Given the description of an element on the screen output the (x, y) to click on. 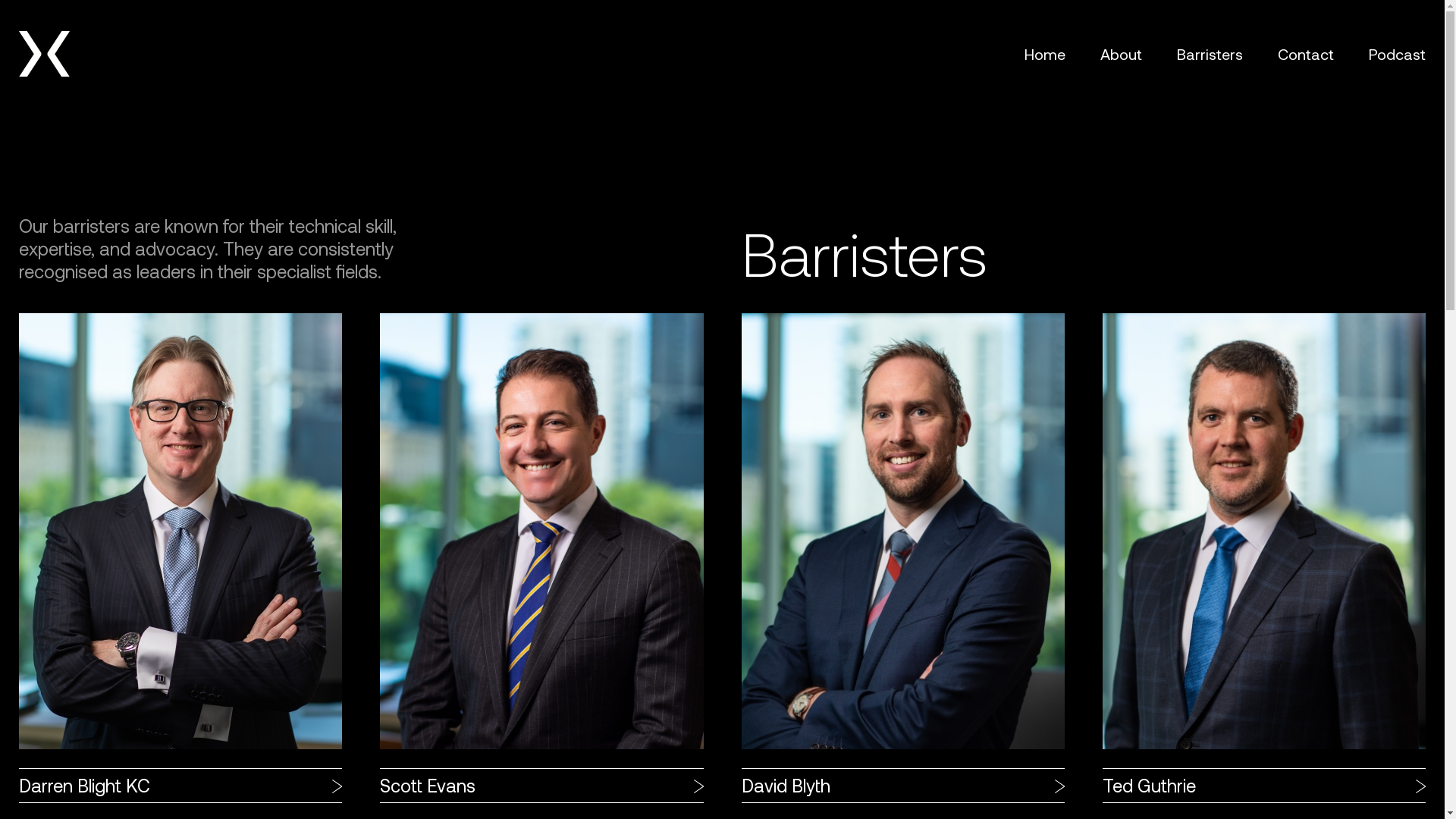
Contact Element type: text (1305, 53)
Podcast Element type: text (1396, 53)
David Blyth Element type: text (902, 558)
Home Element type: text (1044, 53)
Darren Blight KC Element type: text (180, 558)
About Element type: text (1121, 53)
Scott Evans Element type: text (540, 558)
Barristers Element type: text (1209, 53)
Ted Guthrie Element type: text (1263, 558)
